Given the description of an element on the screen output the (x, y) to click on. 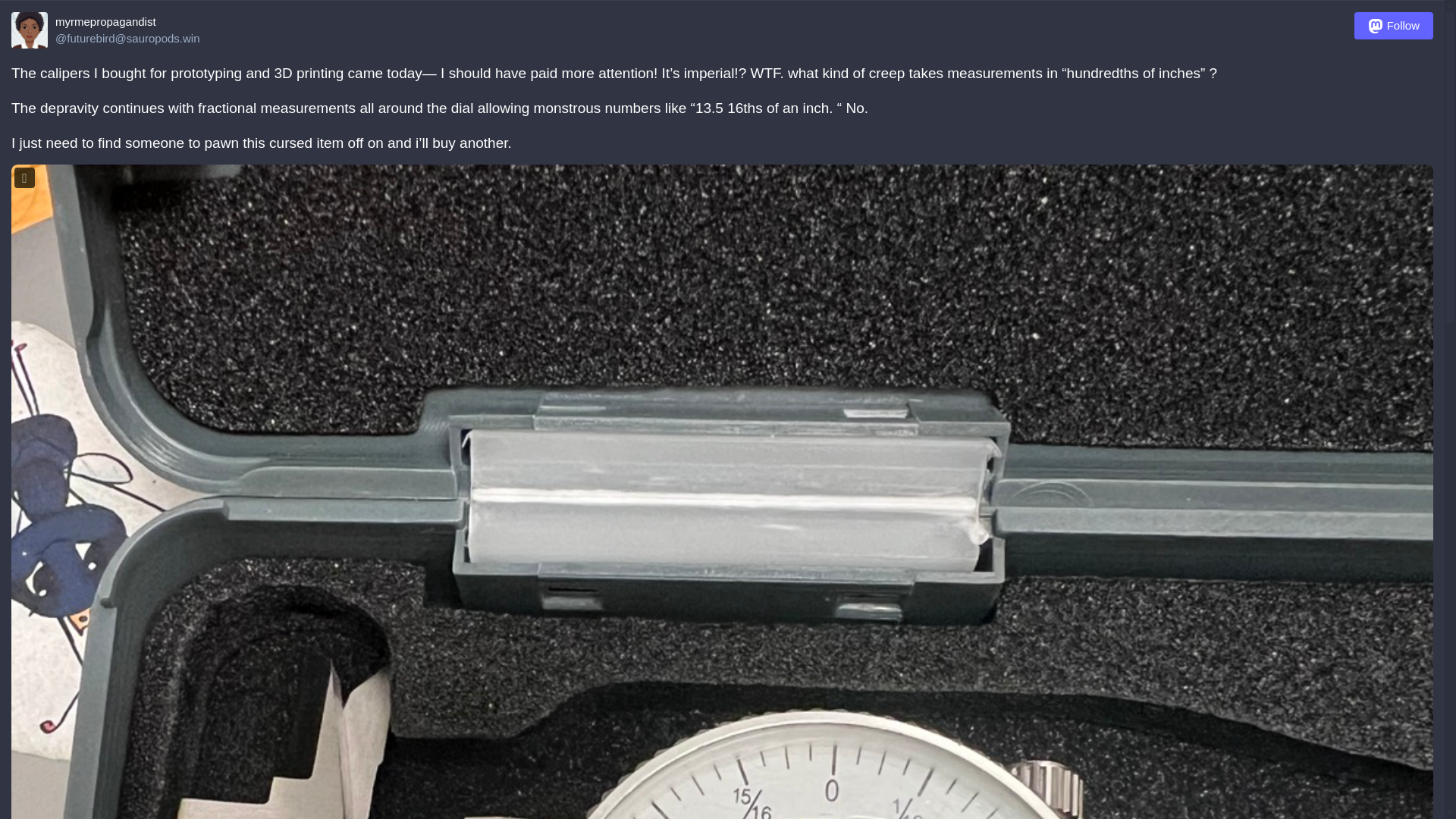
Hide image (24, 177)
Follow (1393, 25)
